Given the description of an element on the screen output the (x, y) to click on. 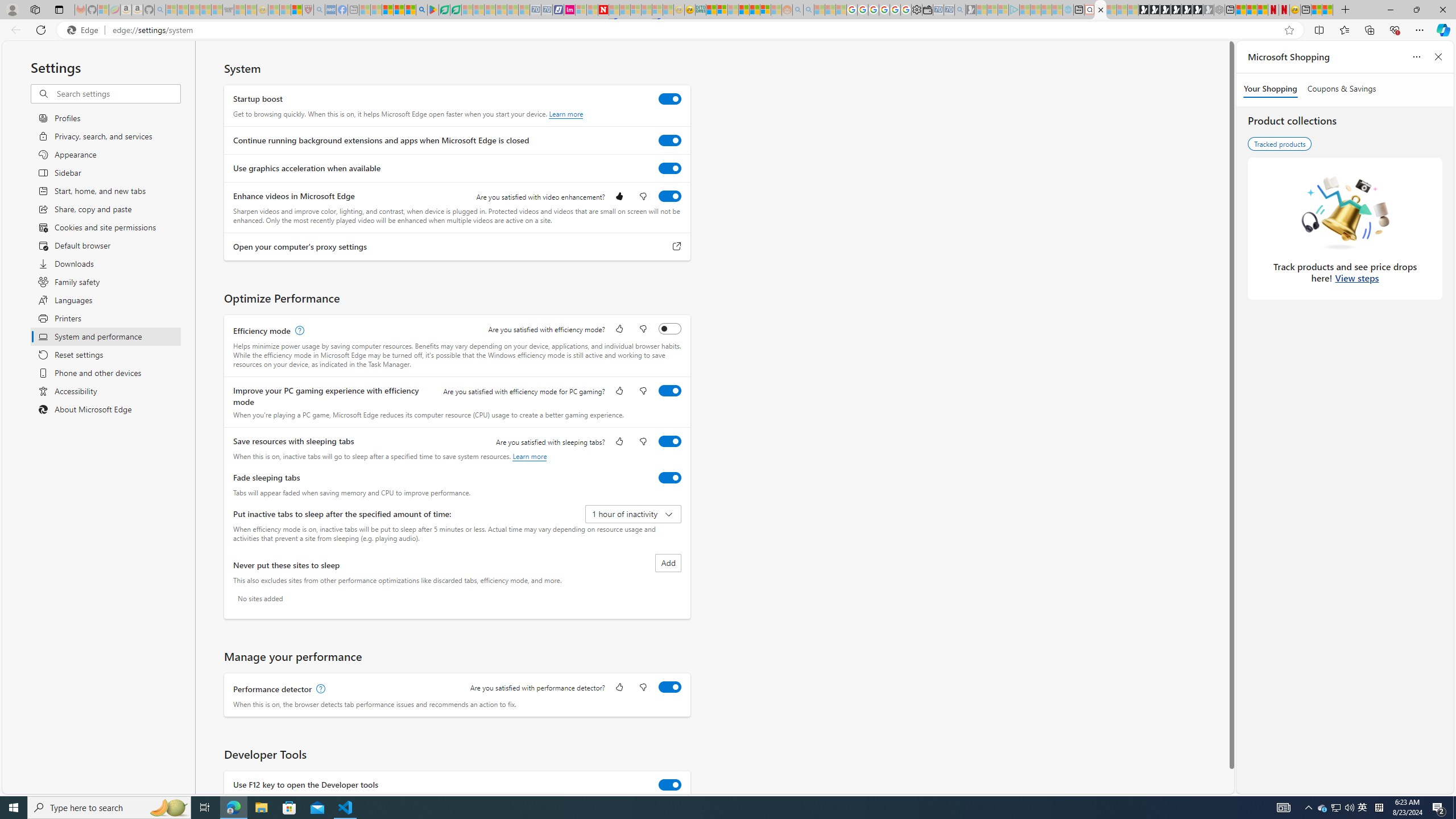
14 Common Myths Debunked By Scientific Facts - Sleeping (624, 9)
Use F12 key to open the Developer tools (669, 784)
Wildlife - MSN (1316, 9)
